Given the description of an element on the screen output the (x, y) to click on. 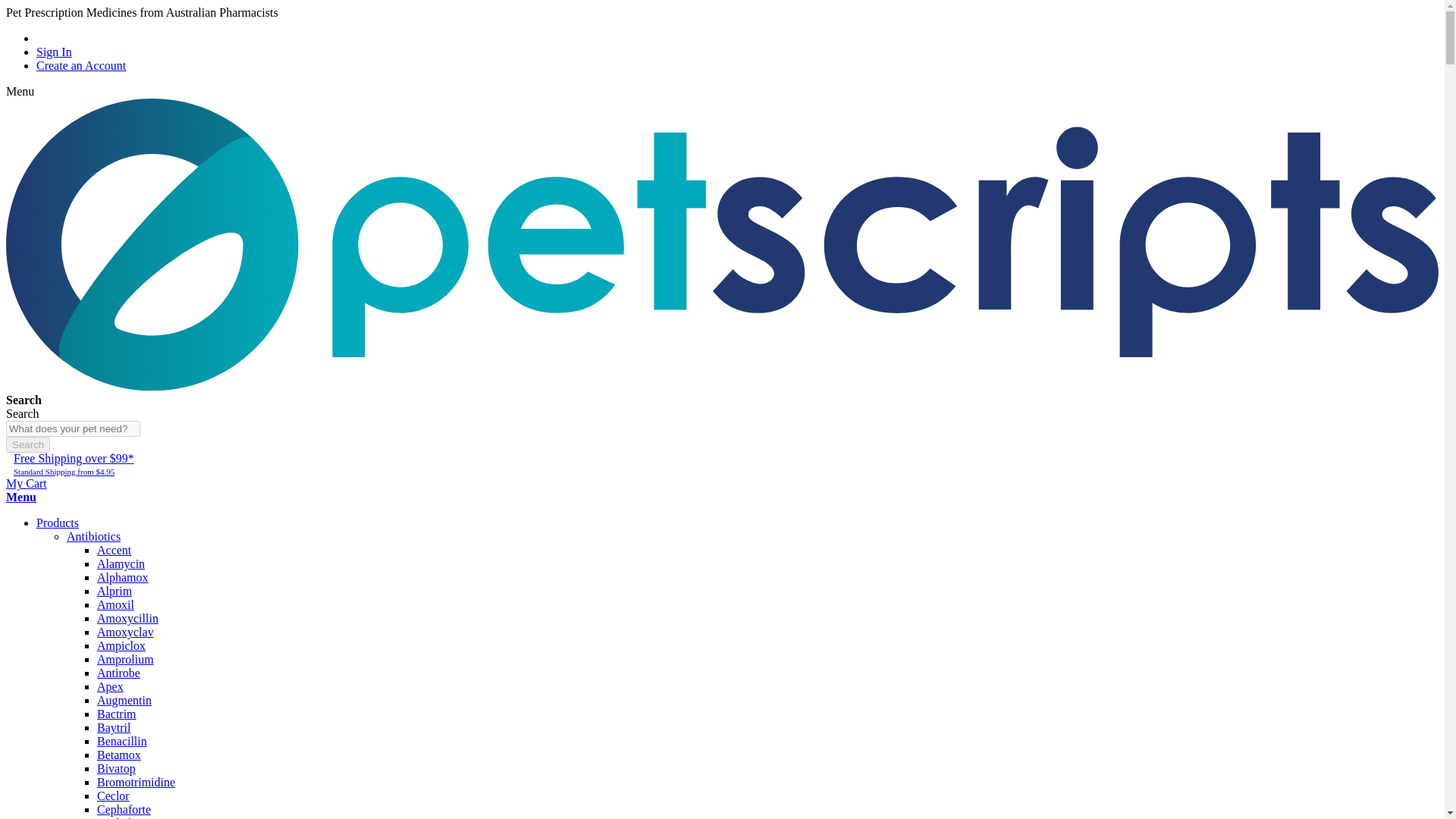
Antirobe (118, 672)
Menu (20, 496)
Apex (110, 686)
Amoxycillin (127, 617)
Search (27, 444)
Amoxil (115, 604)
Cephaforte (124, 809)
Baytril (114, 727)
My Cart (25, 482)
Products (57, 522)
Amprolium (125, 658)
Bromotrimidine (135, 781)
Search (27, 444)
Alamycin (120, 563)
Betamox (119, 754)
